Given the description of an element on the screen output the (x, y) to click on. 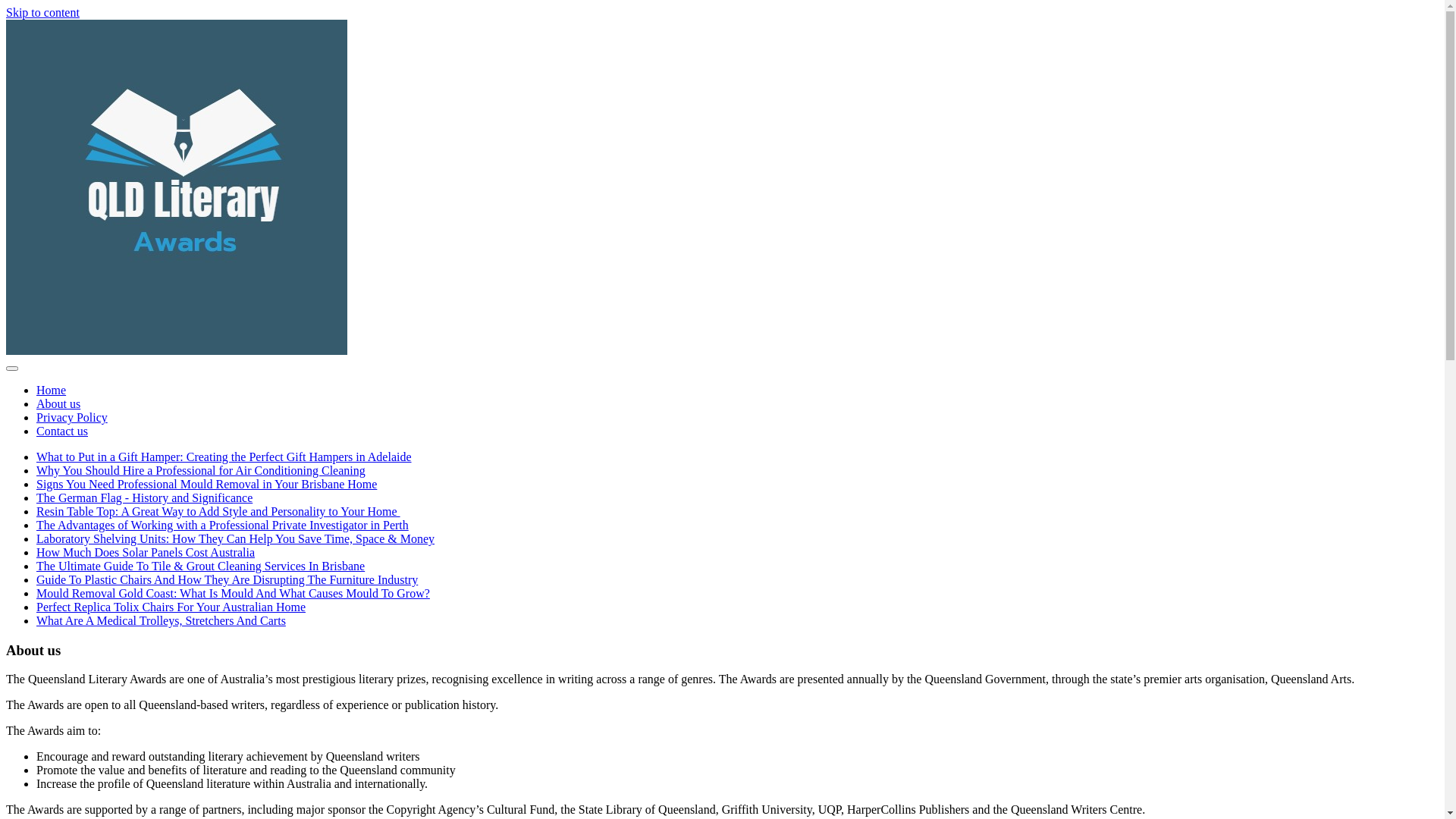
Contact us Element type: text (61, 430)
What Are A Medical Trolleys, Stretchers And Carts Element type: text (160, 620)
The German Flag - History and Significance Element type: text (144, 497)
Privacy Policy Element type: text (71, 417)
How Much Does Solar Panels Cost Australia Element type: text (145, 552)
Skip to content Element type: text (42, 12)
Home Element type: text (50, 389)
Perfect Replica Tolix Chairs For Your Australian Home Element type: text (170, 606)
About us Element type: text (58, 403)
